Given the description of an element on the screen output the (x, y) to click on. 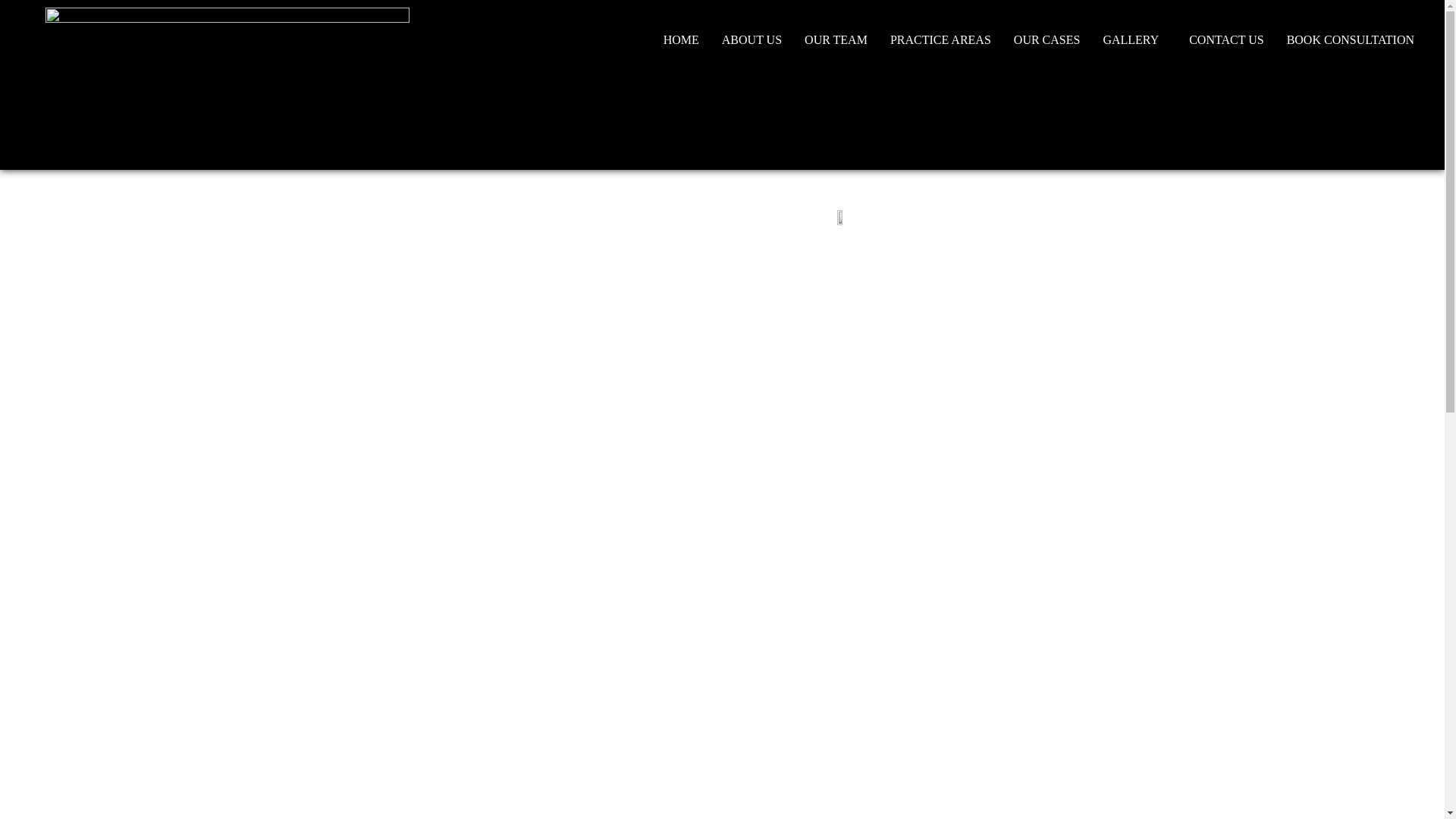
OUR TEAM (836, 39)
CONTACT US (1226, 39)
BOOK CONSULTATION (1350, 39)
GALLERY (1133, 39)
OUR CASES (1047, 39)
ABOUT US (751, 39)
HOME (681, 39)
PRACTICE AREAS (941, 39)
